Given the description of an element on the screen output the (x, y) to click on. 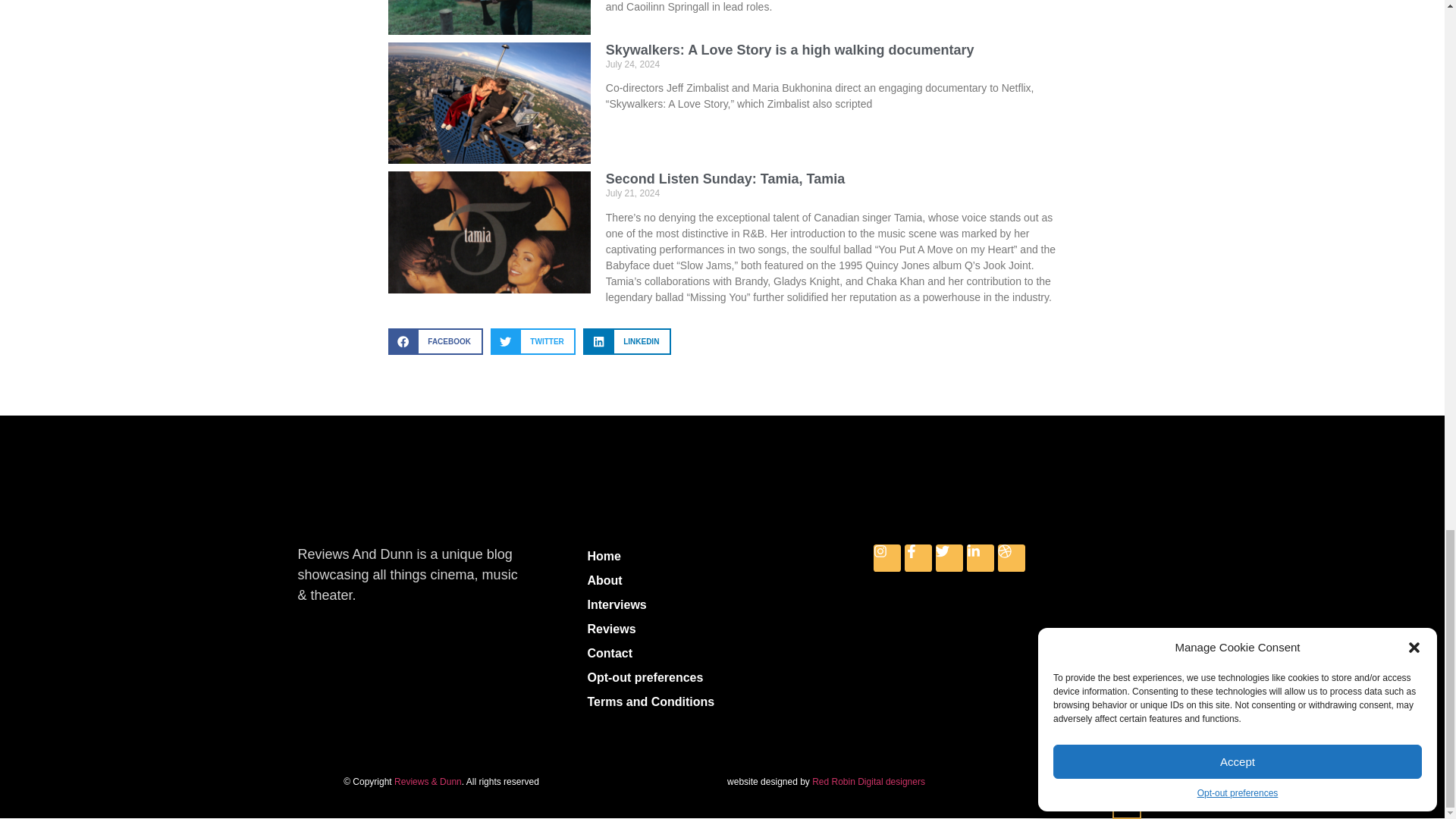
Opt-out preferences (722, 677)
Home (722, 556)
Interviews (722, 604)
Skywalkers: A Love Story is a high walking documentary (789, 49)
Terms and Conditions (722, 702)
About (722, 580)
Second Listen Sunday: Tamia, Tamia (724, 178)
Reviews (722, 629)
Contact (722, 653)
